Given the description of an element on the screen output the (x, y) to click on. 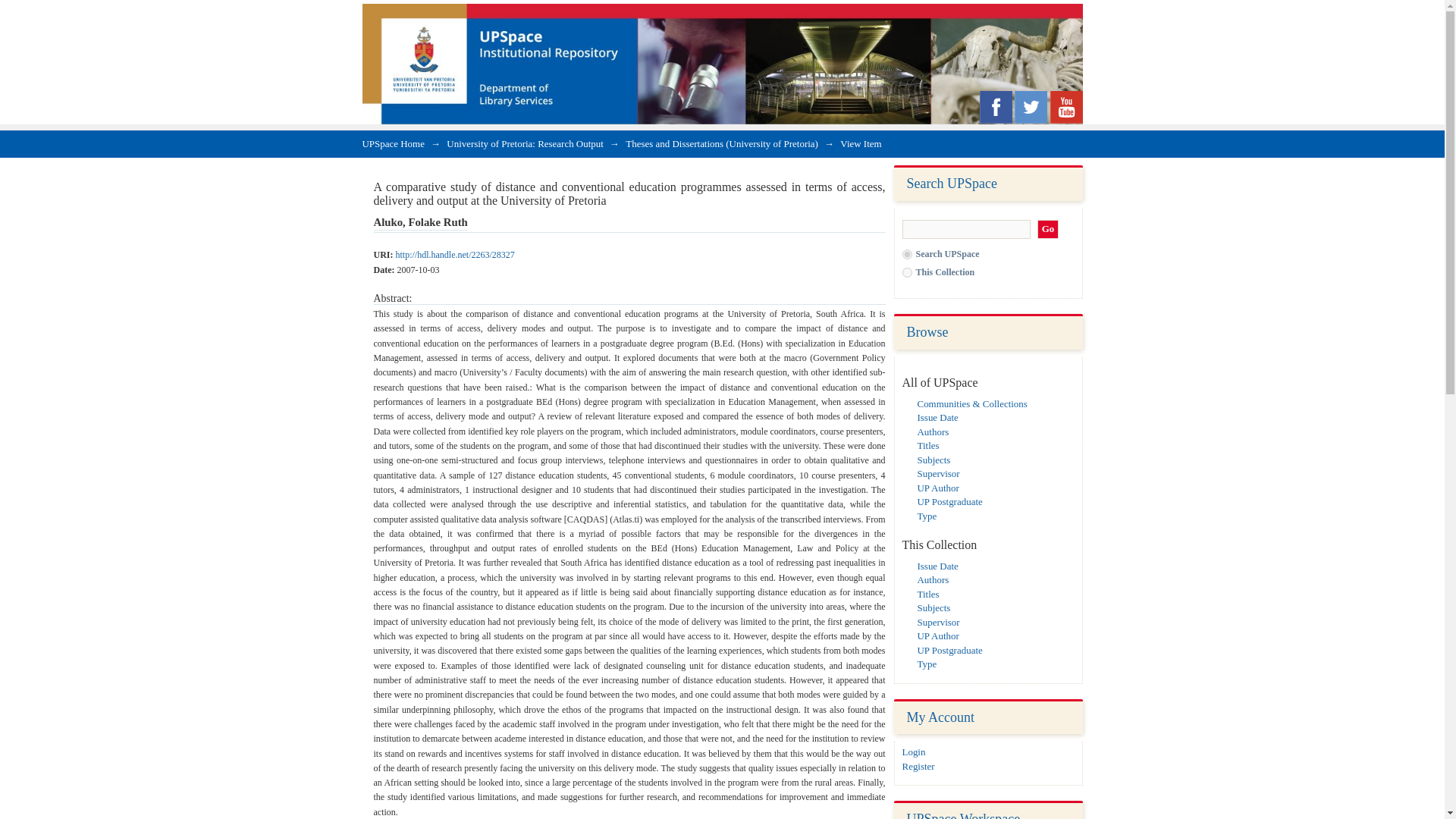
Supervisor (938, 473)
Titles (928, 445)
Authors (933, 431)
Subjects (933, 459)
UP Postgraduate (949, 501)
UPSpace Home (393, 143)
Type (927, 514)
Issue Date (937, 565)
Titles (928, 593)
Go (1047, 229)
